Given the description of an element on the screen output the (x, y) to click on. 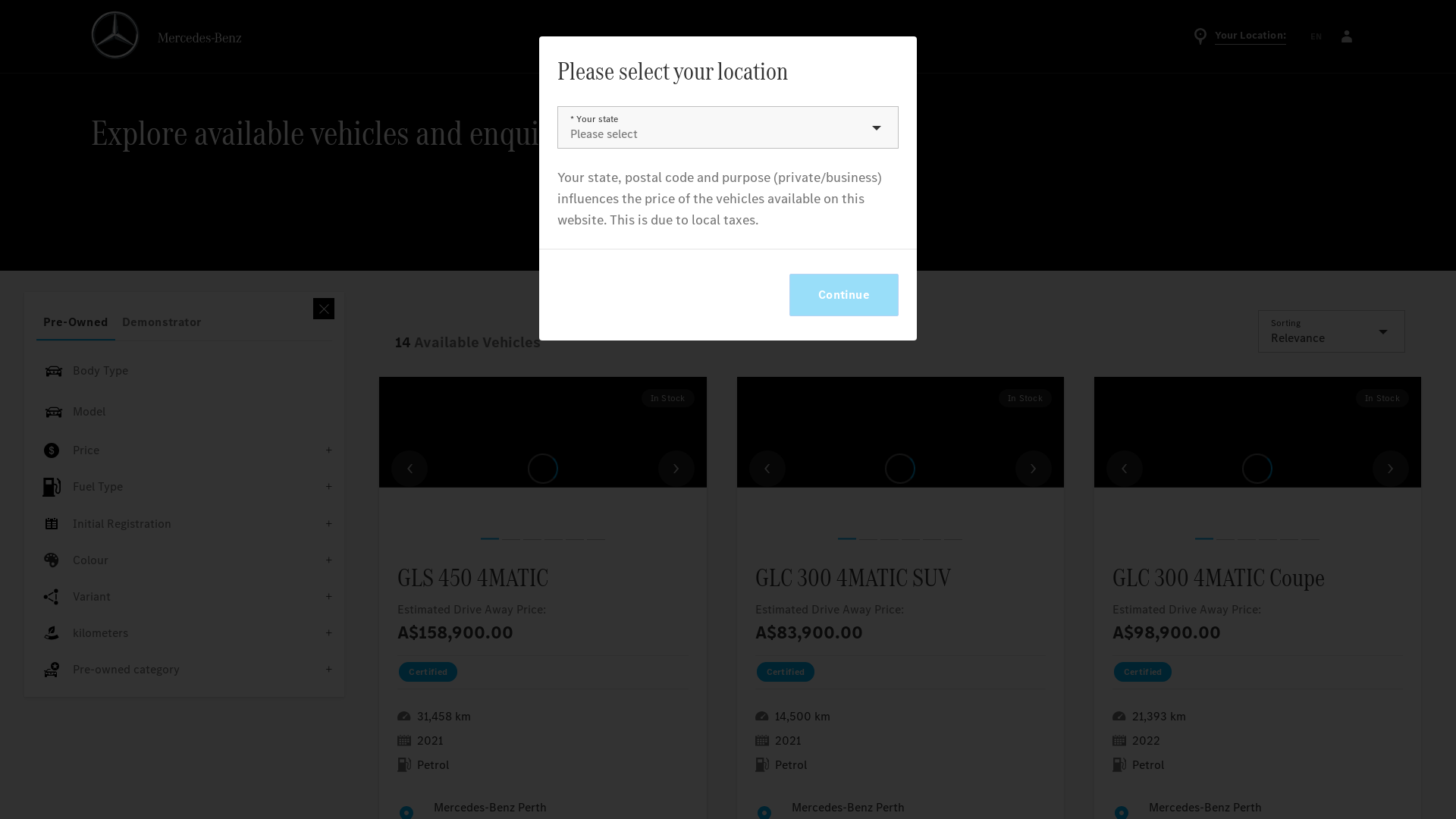
Your Location: Element type: text (1239, 36)
EN Element type: text (1316, 36)
Pre-Owned Element type: text (75, 322)
Demonstrator Element type: text (161, 322)
Continue Element type: text (843, 294)
